Given the description of an element on the screen output the (x, y) to click on. 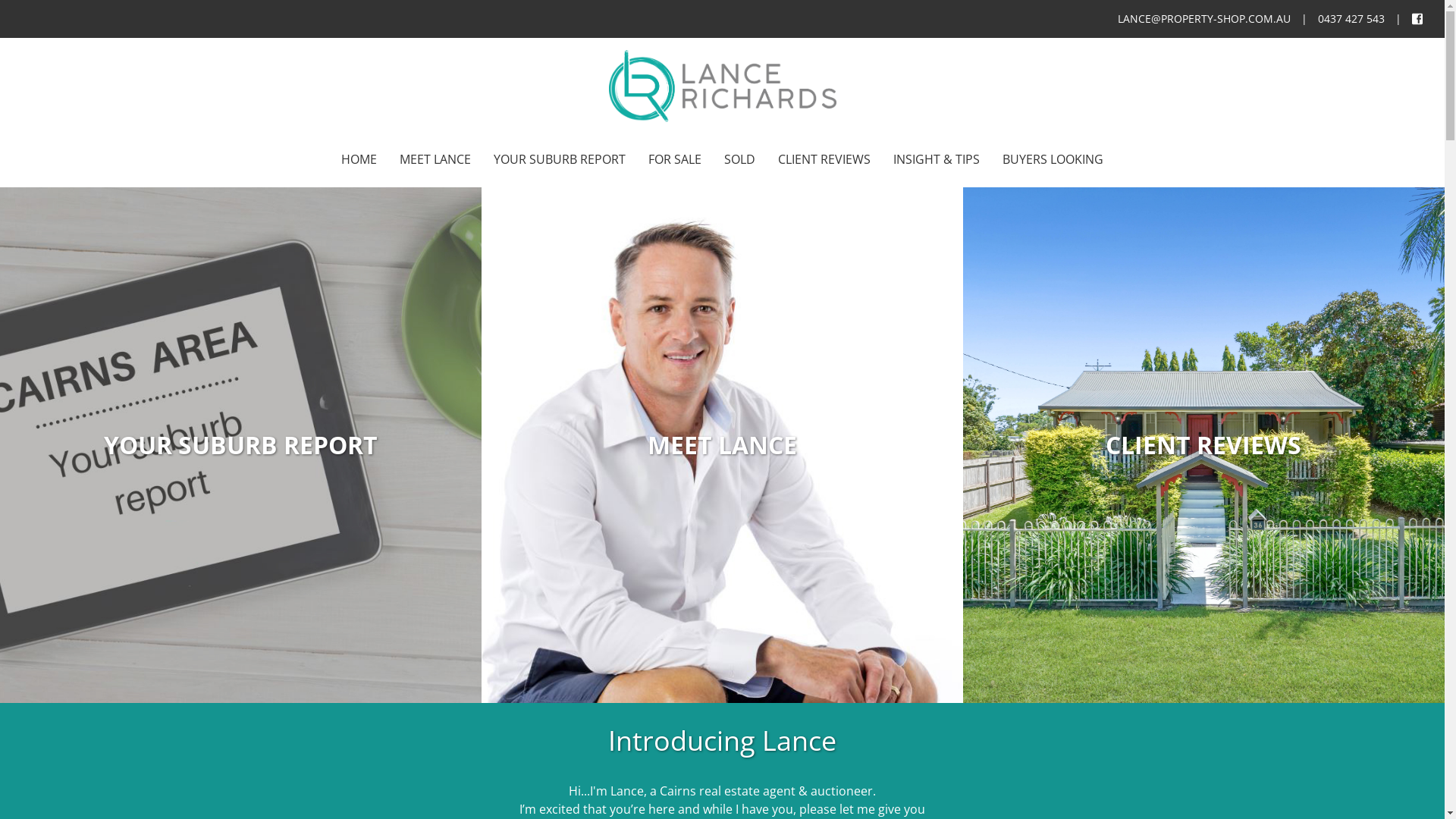
BUYERS LOOKING Element type: text (1052, 160)
INSIGHT & TIPS Element type: text (936, 160)
0437 427 543 Element type: text (1351, 18)
LANCE@PROPERTY-SHOP.COM.AU Element type: text (1204, 18)
YOUR SUBURB REPORT Element type: text (240, 444)
HOME Element type: text (358, 160)
YOUR SUBURB REPORT Element type: text (559, 160)
CLIENT REVIEWS Element type: text (823, 160)
SOLD Element type: text (739, 160)
FOR SALE Element type: text (674, 160)
MEET LANCE Element type: text (722, 444)
MEET LANCE Element type: text (435, 160)
CLIENT REVIEWS Element type: text (1203, 444)
